Given the description of an element on the screen output the (x, y) to click on. 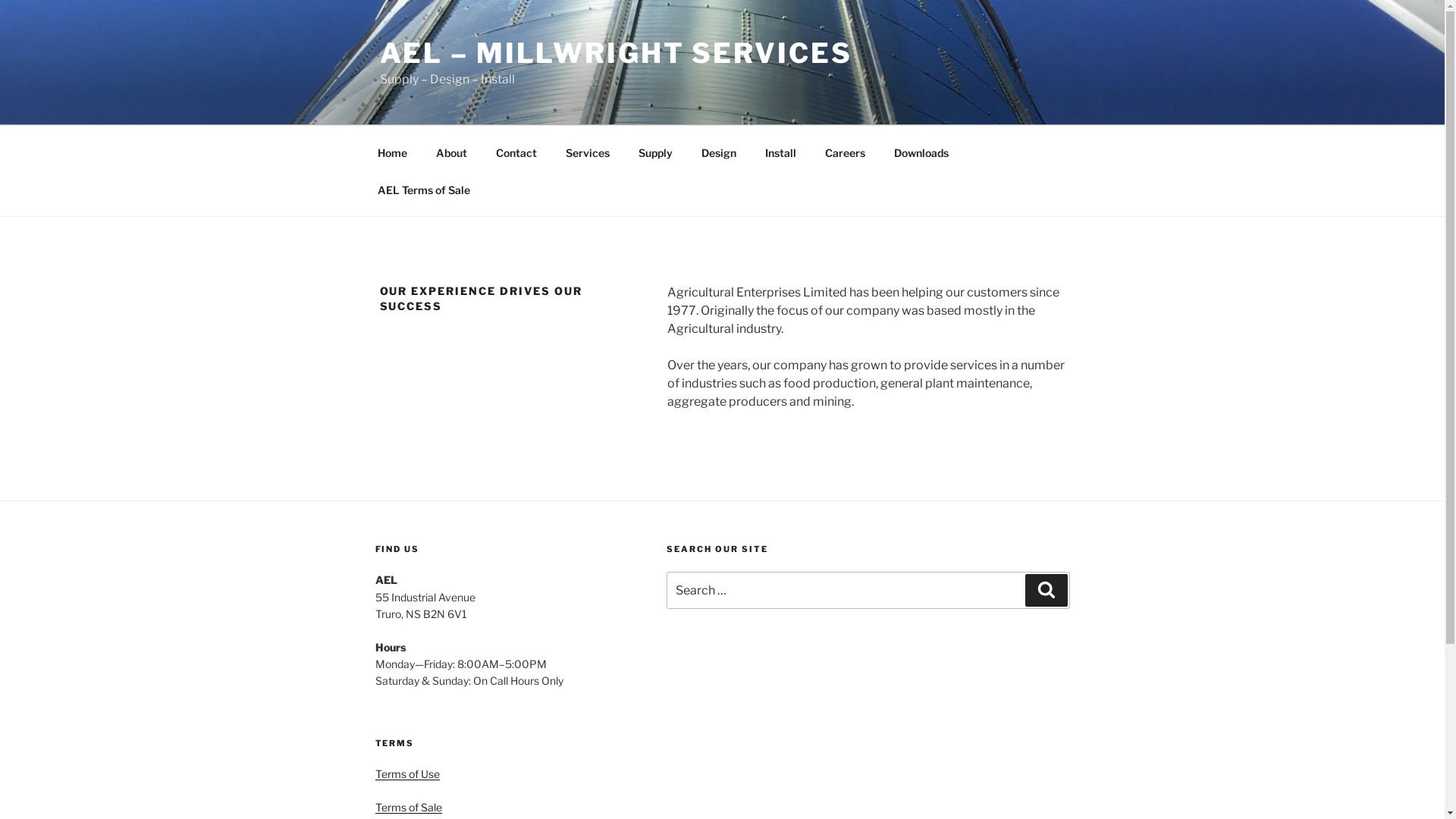
Contact Element type: text (515, 151)
Search Element type: text (1046, 589)
Terms of Use Element type: text (406, 773)
Services Element type: text (587, 151)
About Element type: text (451, 151)
Terms of Sale Element type: text (407, 806)
Home Element type: text (392, 151)
Careers Element type: text (844, 151)
AEL Terms of Sale Element type: text (423, 189)
Design Element type: text (718, 151)
Install Element type: text (780, 151)
Downloads Element type: text (921, 151)
Supply Element type: text (654, 151)
